Given the description of an element on the screen output the (x, y) to click on. 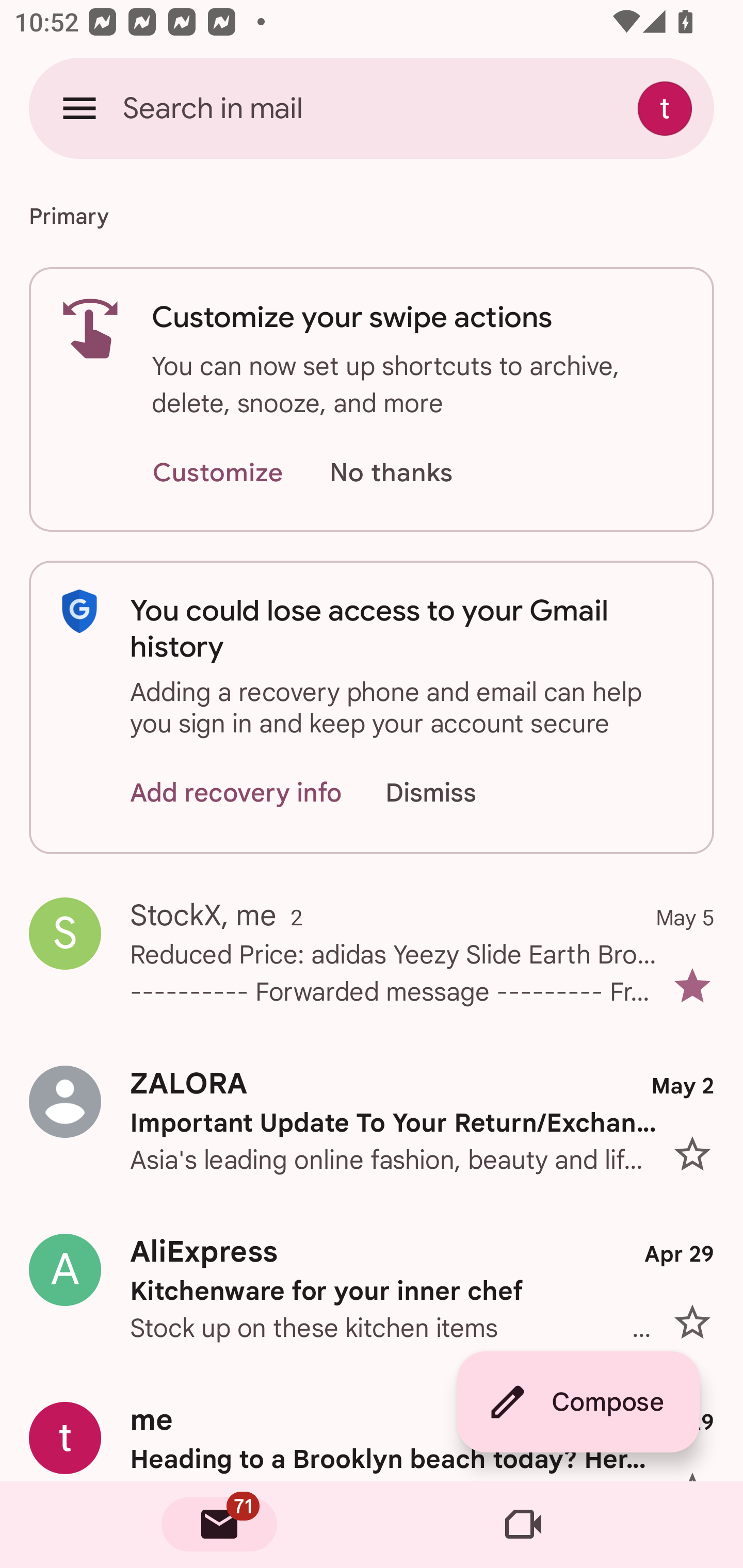
Open navigation drawer (79, 108)
Customize (217, 473)
No thanks (390, 473)
Add recovery info (235, 792)
Dismiss (449, 792)
Compose (577, 1401)
Meet (523, 1524)
